Given the description of an element on the screen output the (x, y) to click on. 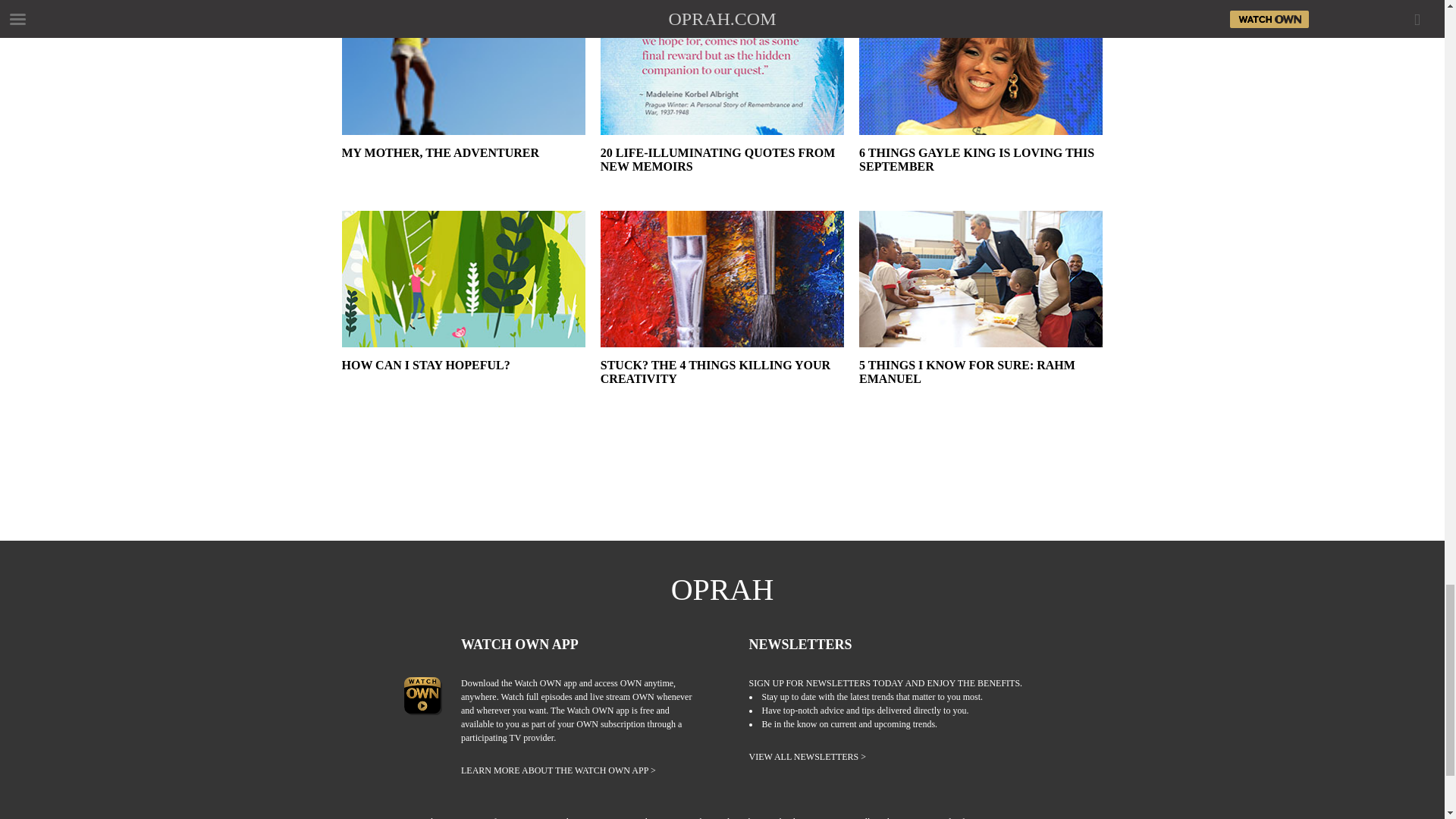
Do Not Sell or Share My Personal Information (919, 816)
OPRAH (722, 589)
HOW CAN I STAY HOPEFUL? (462, 385)
Privacy Policy (425, 816)
DMCA Compliance (637, 816)
5 THINGS I KNOW FOR SURE: RAHM EMANUEL (980, 385)
20 LIFE-ILLUMINATING QUOTES FROM NEW MEMOIRS (721, 172)
House Rules (560, 816)
6 THINGS GAYLE KING IS LOVING THIS SEPTEMBER (980, 172)
MY MOTHER, THE ADVENTURER (462, 172)
Terms Of Use (494, 816)
STUCK? THE 4 THINGS KILLING YOUR CREATIVITY (721, 385)
Cookies and Tracking Technology (754, 816)
Scams (1033, 816)
